Given the description of an element on the screen output the (x, y) to click on. 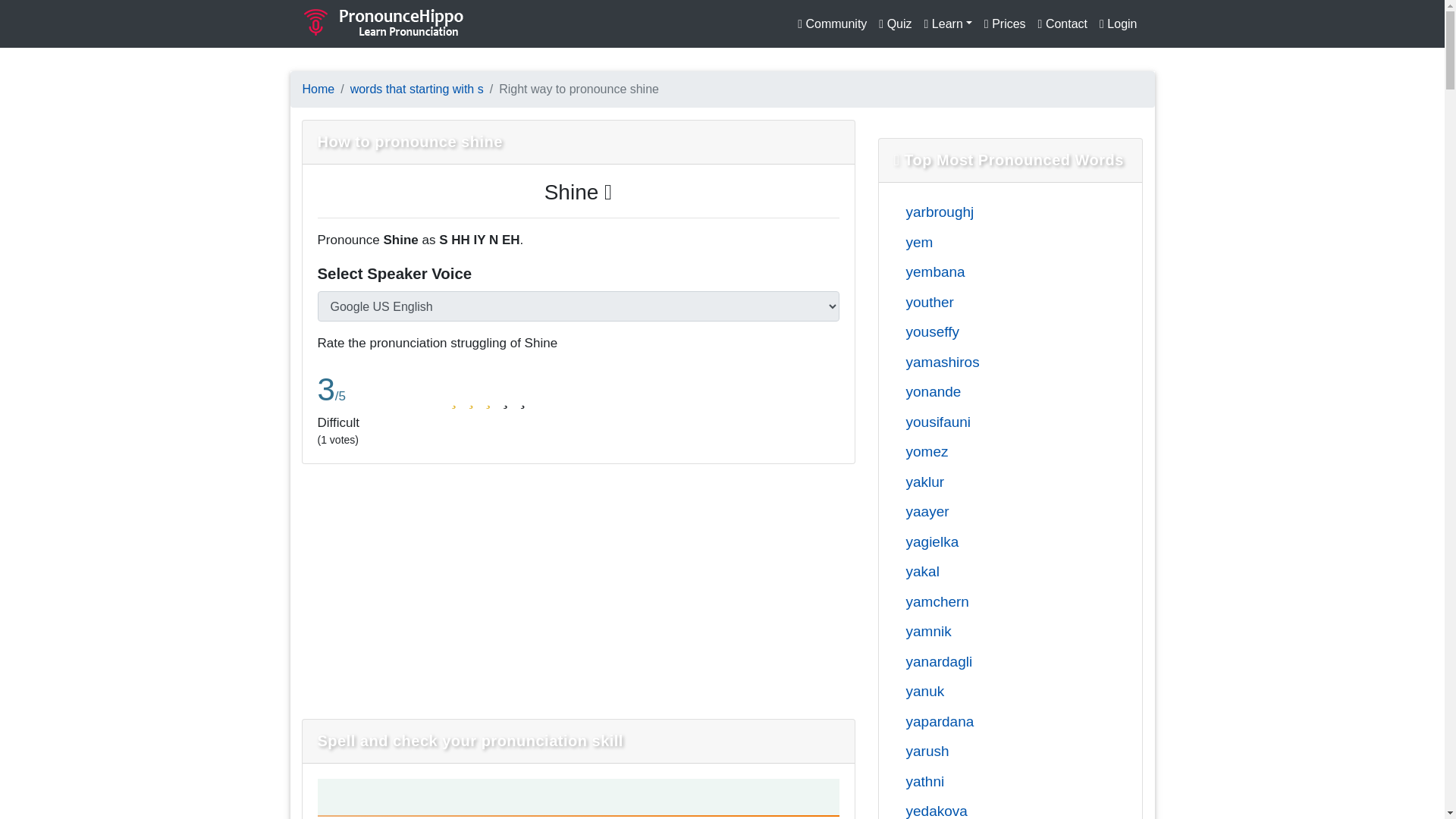
Very easy (522, 399)
Learn (948, 24)
Login (1117, 24)
words that starting with s (416, 89)
Hear Shine Pronunciation (578, 191)
Easy (505, 399)
Difficult (470, 399)
Very difficult (453, 399)
Home (317, 89)
Quiz (894, 24)
Pronouncehippo Home Page (317, 89)
Advertisement (722, 588)
Advertisement (434, 588)
Prices (1005, 24)
PronounceHippo.Com (384, 23)
